Given the description of an element on the screen output the (x, y) to click on. 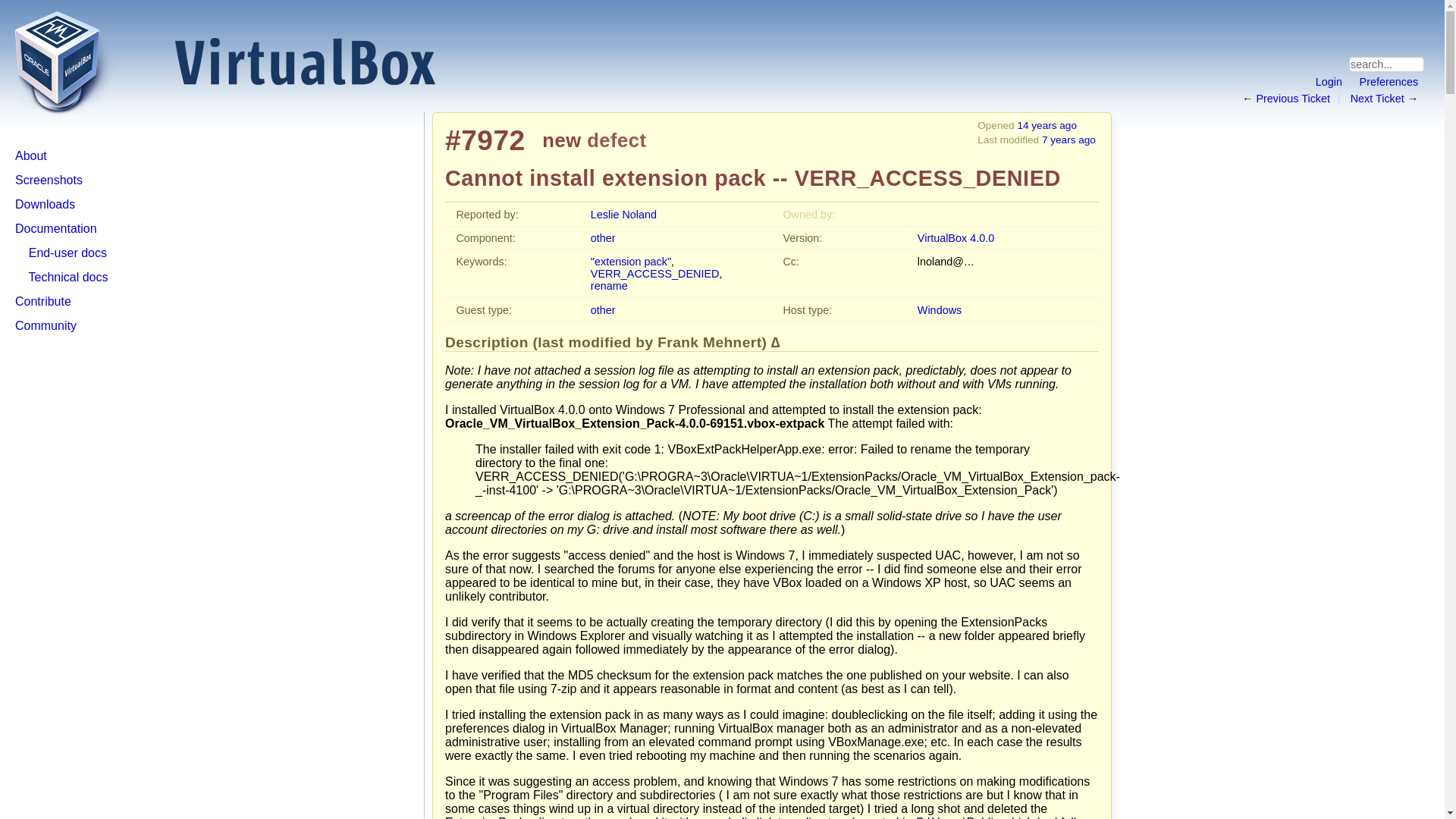
Leslie Noland (623, 214)
Community (45, 325)
Documentation (55, 228)
See timeline at Jan 26, 2018 9:25:44 PM (1069, 139)
Preferences (1388, 81)
See timeline at Jan 2, 2011 1:03:11 AM (1046, 125)
pack" (658, 261)
new (560, 139)
other (603, 309)
End-user docs (67, 252)
Downloads (44, 204)
other (603, 237)
7 years ago (1069, 139)
Previous Ticket (1292, 98)
Released Dec 21, 2010 11:00:00 PM (955, 237)
